Given the description of an element on the screen output the (x, y) to click on. 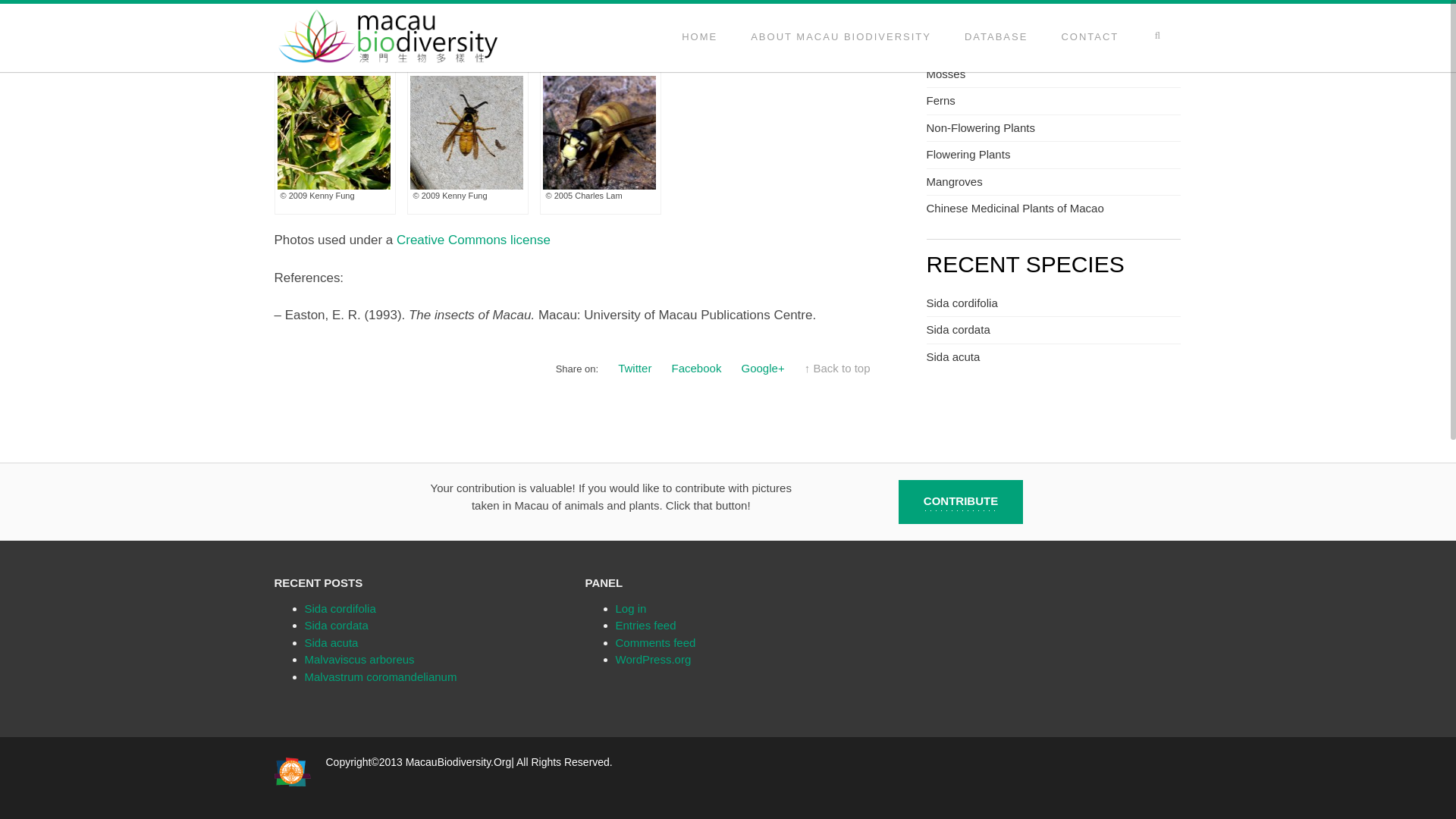
Algae (940, 46)
Mosses (946, 73)
Ferns (940, 100)
Algae (940, 46)
